Given the description of an element on the screen output the (x, y) to click on. 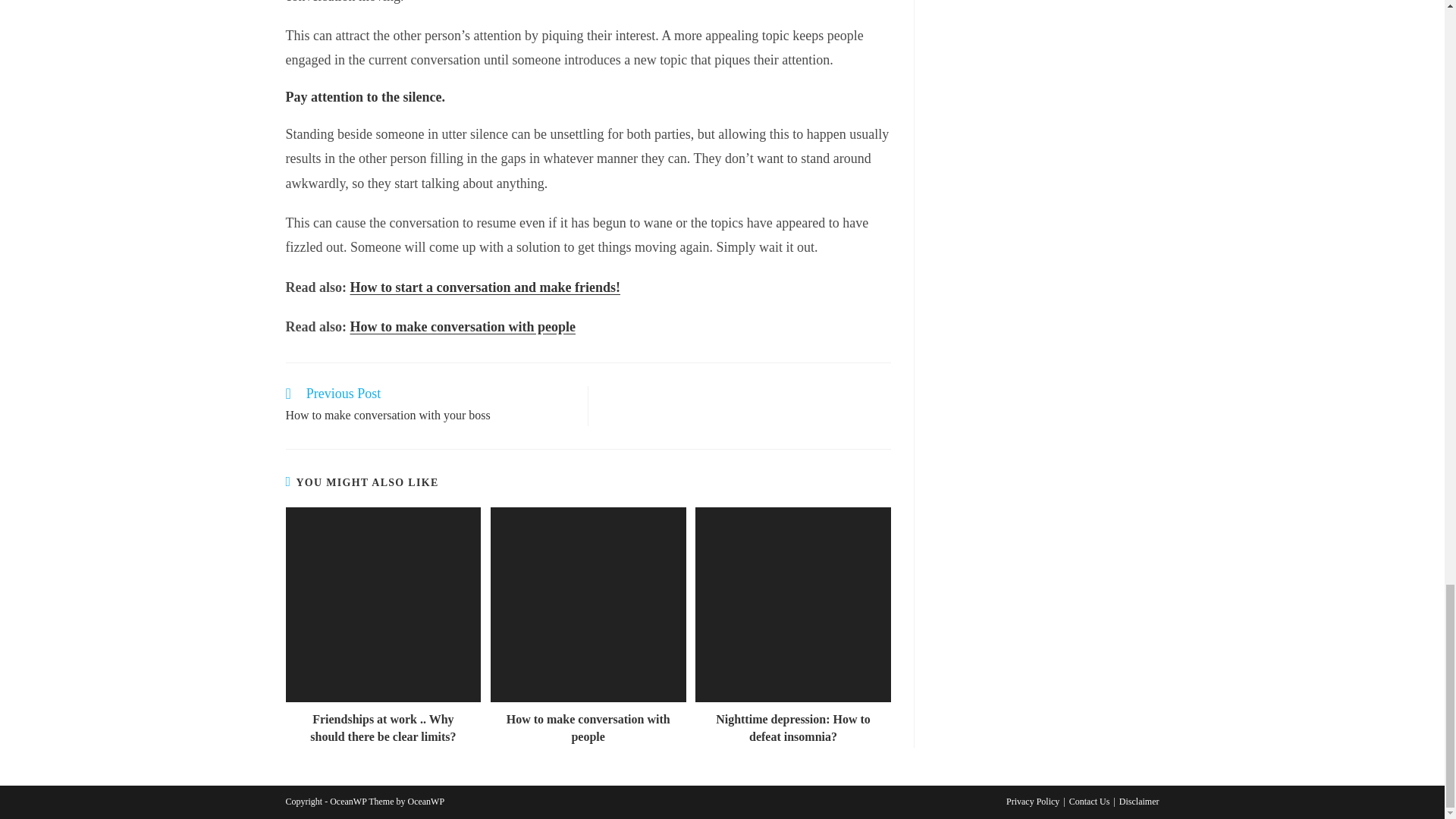
How to make conversation with people (462, 326)
Contact Us (1088, 801)
Friendships at work .. Why should there be clear limits? (382, 728)
Privacy Policy (1032, 801)
How to make conversation with people (588, 728)
Nighttime depression: How to defeat insomnia? (793, 728)
Disclaimer (1138, 801)
How to start a conversation and make friends! (428, 405)
